Given the description of an element on the screen output the (x, y) to click on. 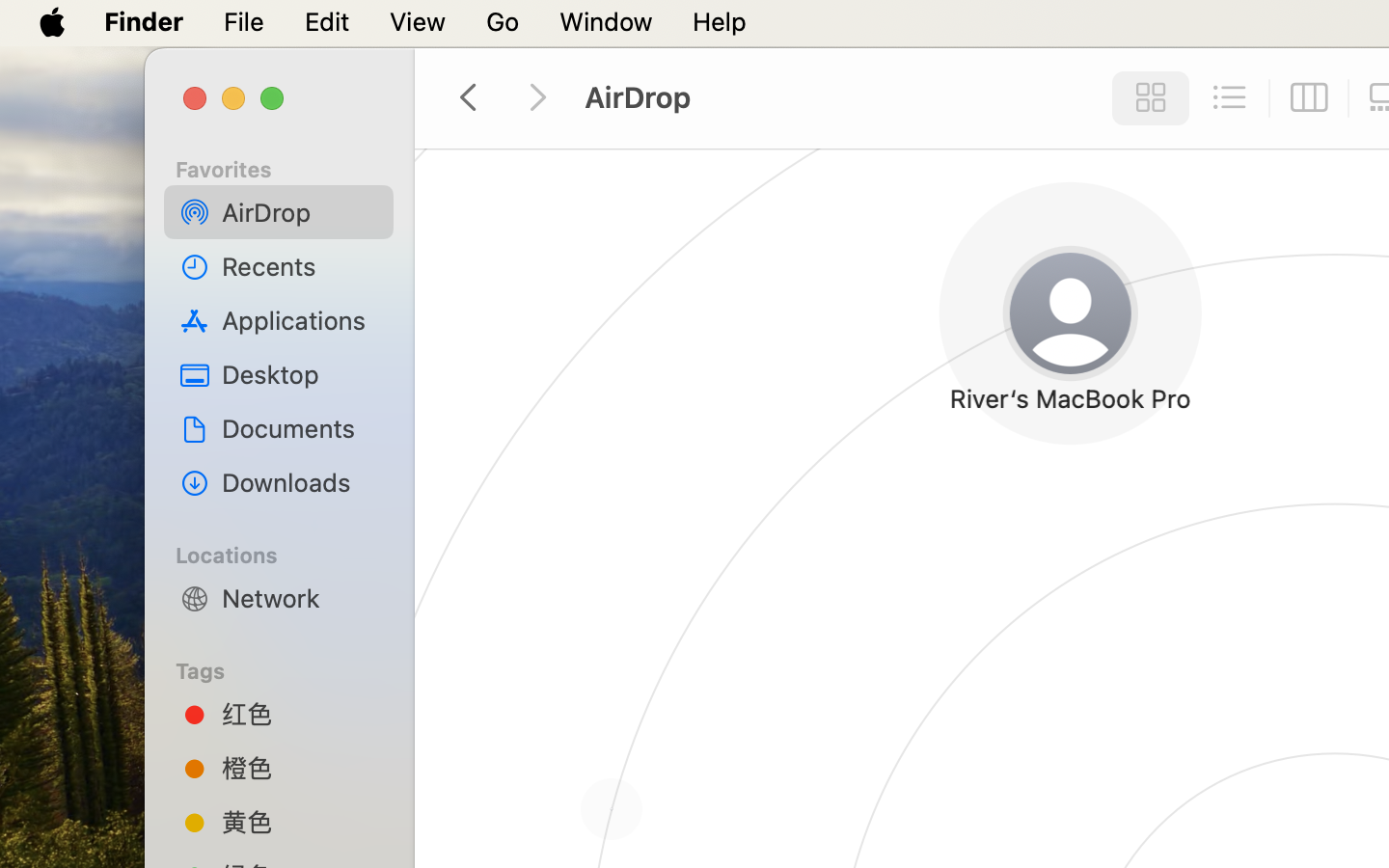
Documents Element type: AXStaticText (299, 427)
红色 Element type: AXStaticText (299, 713)
Tags Element type: AXStaticText (289, 668)
0 Element type: AXRadioButton (1229, 97)
Recents Element type: AXStaticText (299, 265)
